Given the description of an element on the screen output the (x, y) to click on. 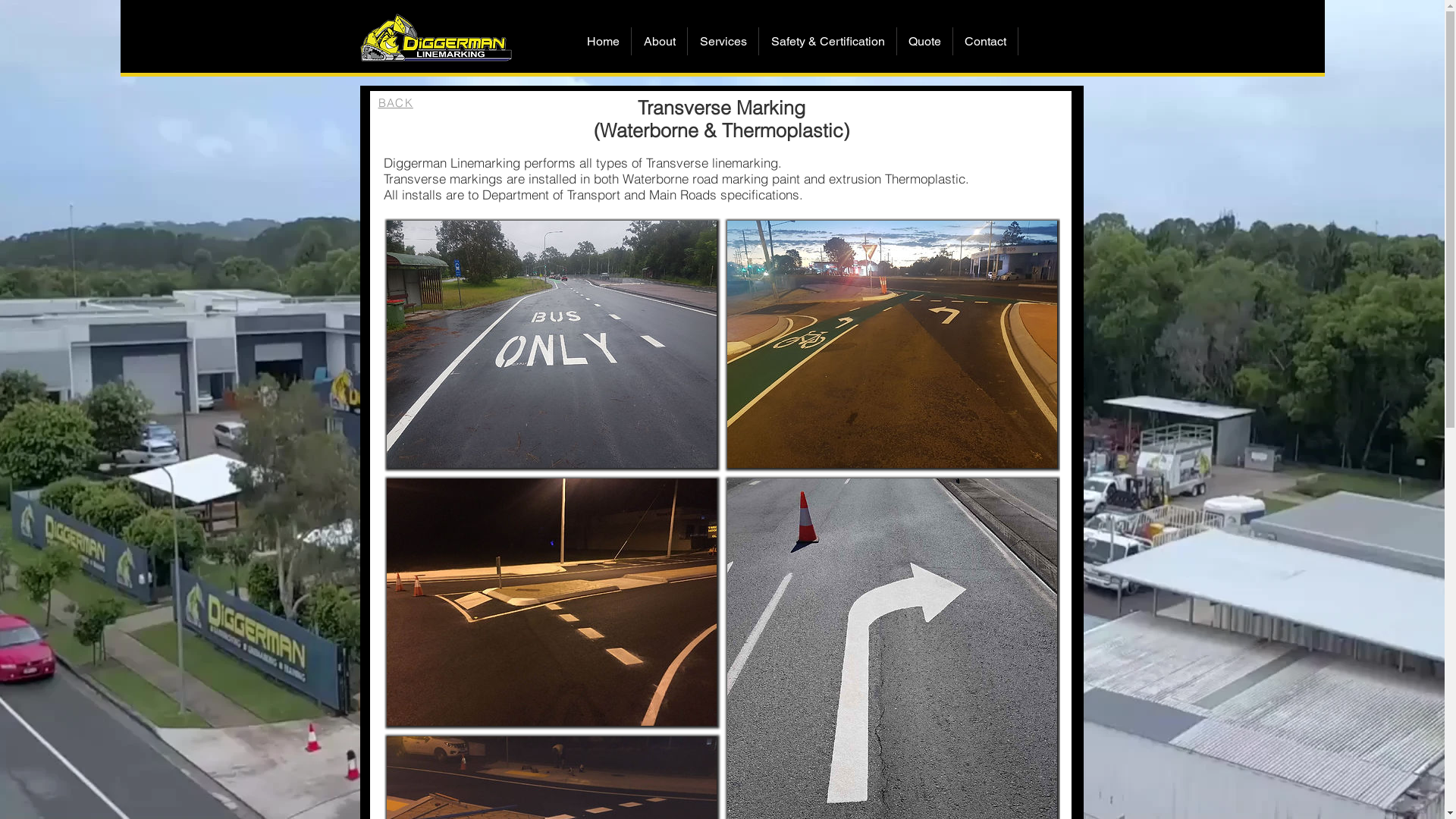
Contact Element type: text (985, 41)
Services Element type: text (722, 41)
Safety & Certification Element type: text (827, 41)
BACK Element type: text (394, 102)
About Element type: text (659, 41)
Home Element type: text (602, 41)
Quote Element type: text (924, 41)
